Given the description of an element on the screen output the (x, y) to click on. 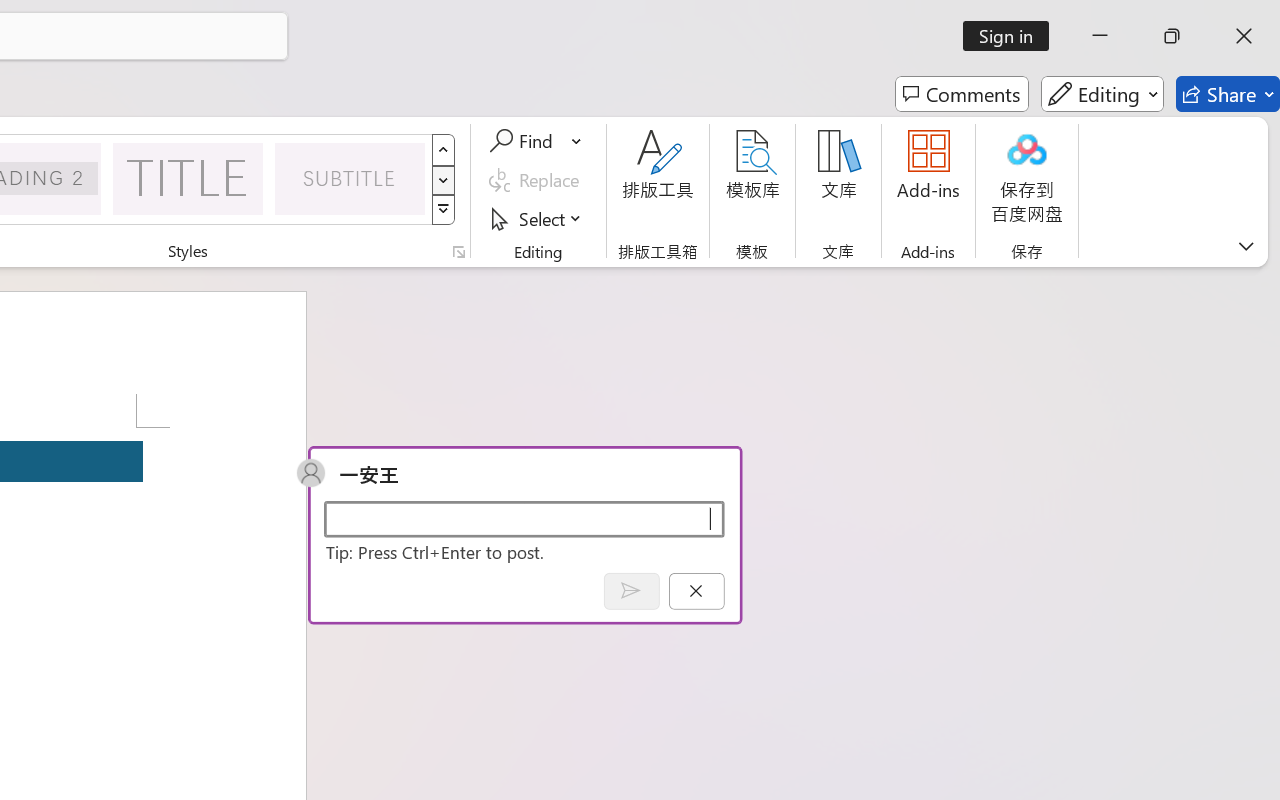
Title (187, 178)
Sign in (1012, 35)
Cancel (696, 590)
